Given the description of an element on the screen output the (x, y) to click on. 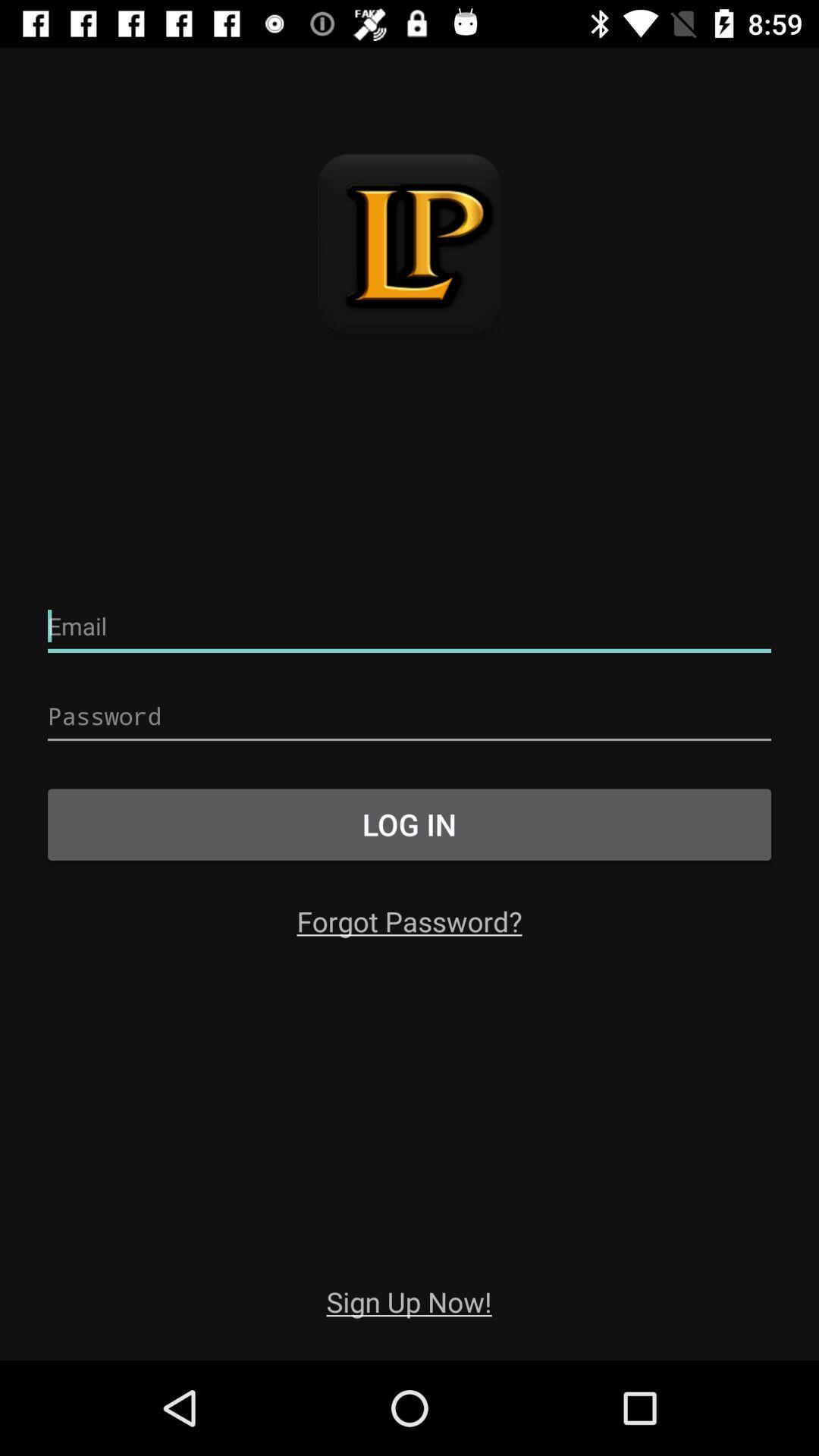
jump to sign up now! app (408, 1301)
